Given the description of an element on the screen output the (x, y) to click on. 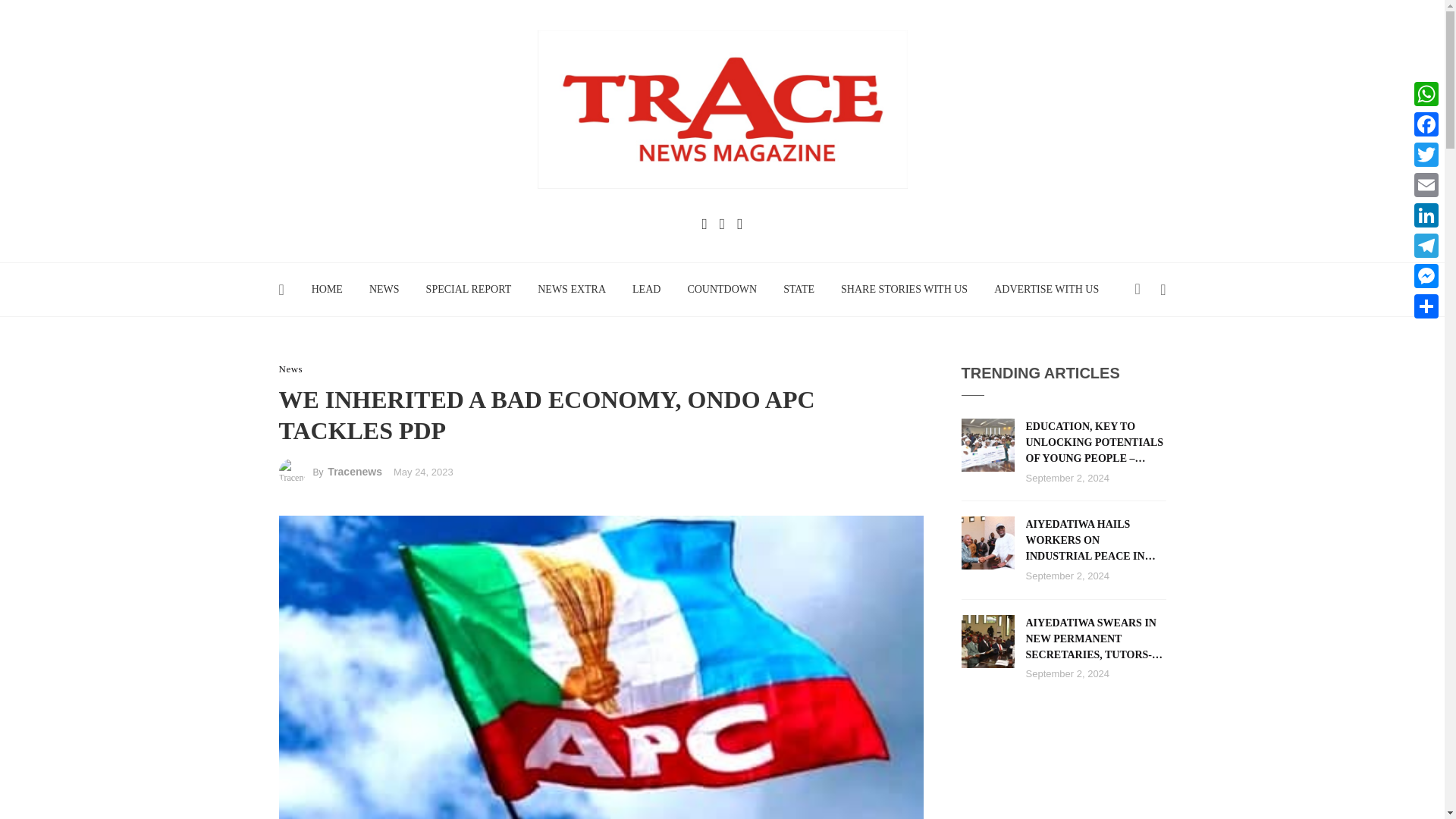
HOME (326, 289)
Tracenews (354, 471)
NEWS (383, 289)
STATE (799, 289)
NEWS EXTRA (572, 289)
LEAD (647, 289)
COUNTDOWN (722, 289)
SHARE STORIES WITH US (904, 289)
ADVERTISE WITH US (1046, 289)
May 24, 2023 at 1:36 pm (422, 471)
